Given the description of an element on the screen output the (x, y) to click on. 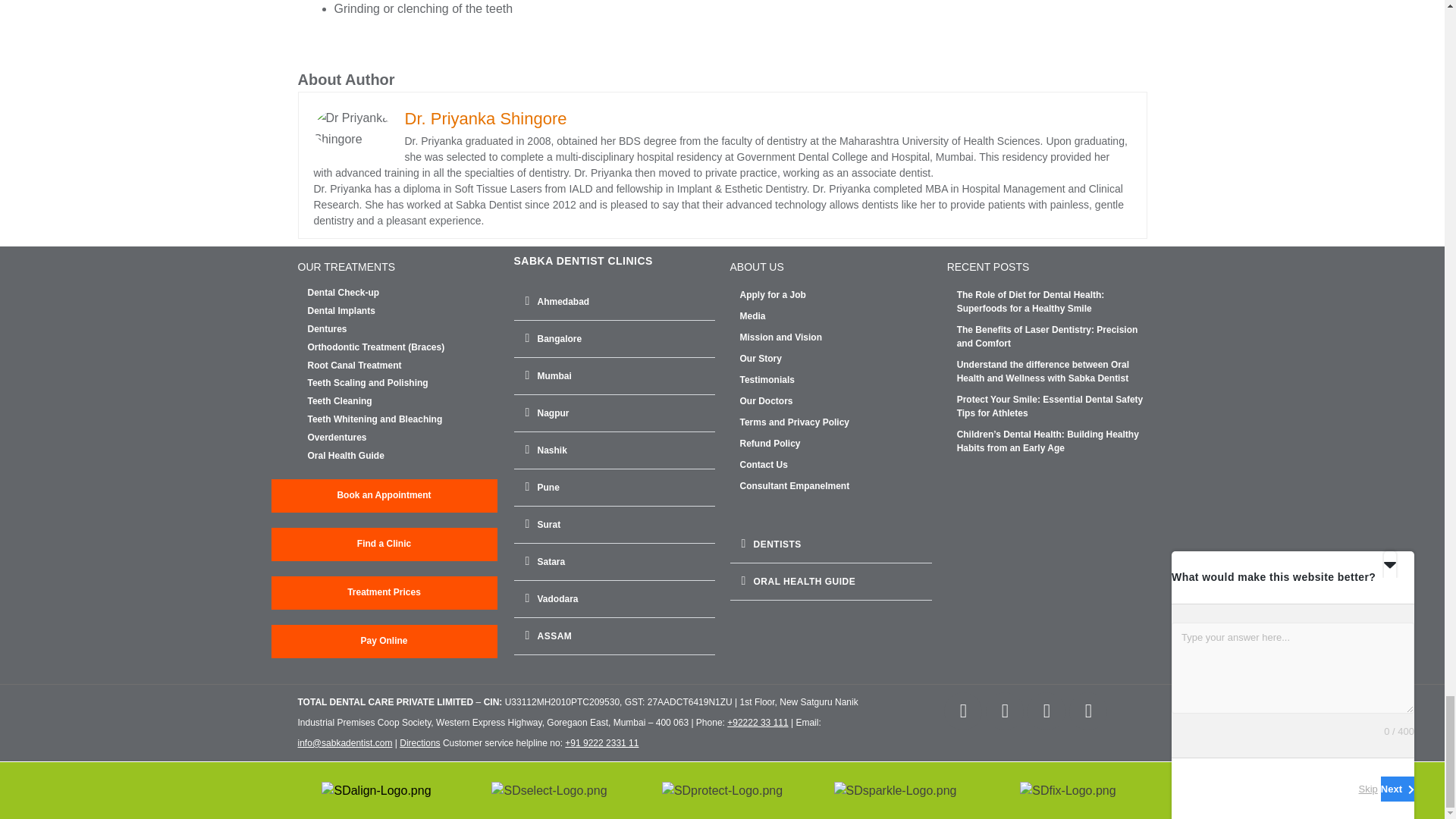
Overdentures (403, 438)
Teeth Whitening and Bleaching (403, 419)
Teeth Scaling and Polishing (403, 383)
Careers (835, 295)
Our Story (835, 358)
Media (835, 315)
Dental Implants (403, 311)
Oral Health Guide (403, 456)
Teeth Cleaning (403, 401)
Root Canal Treatment (403, 366)
Dental Check-up (403, 293)
Mission and Vision (835, 336)
Orthodontic Treatment (403, 347)
Dentures (403, 329)
Testimonials (835, 379)
